Given the description of an element on the screen output the (x, y) to click on. 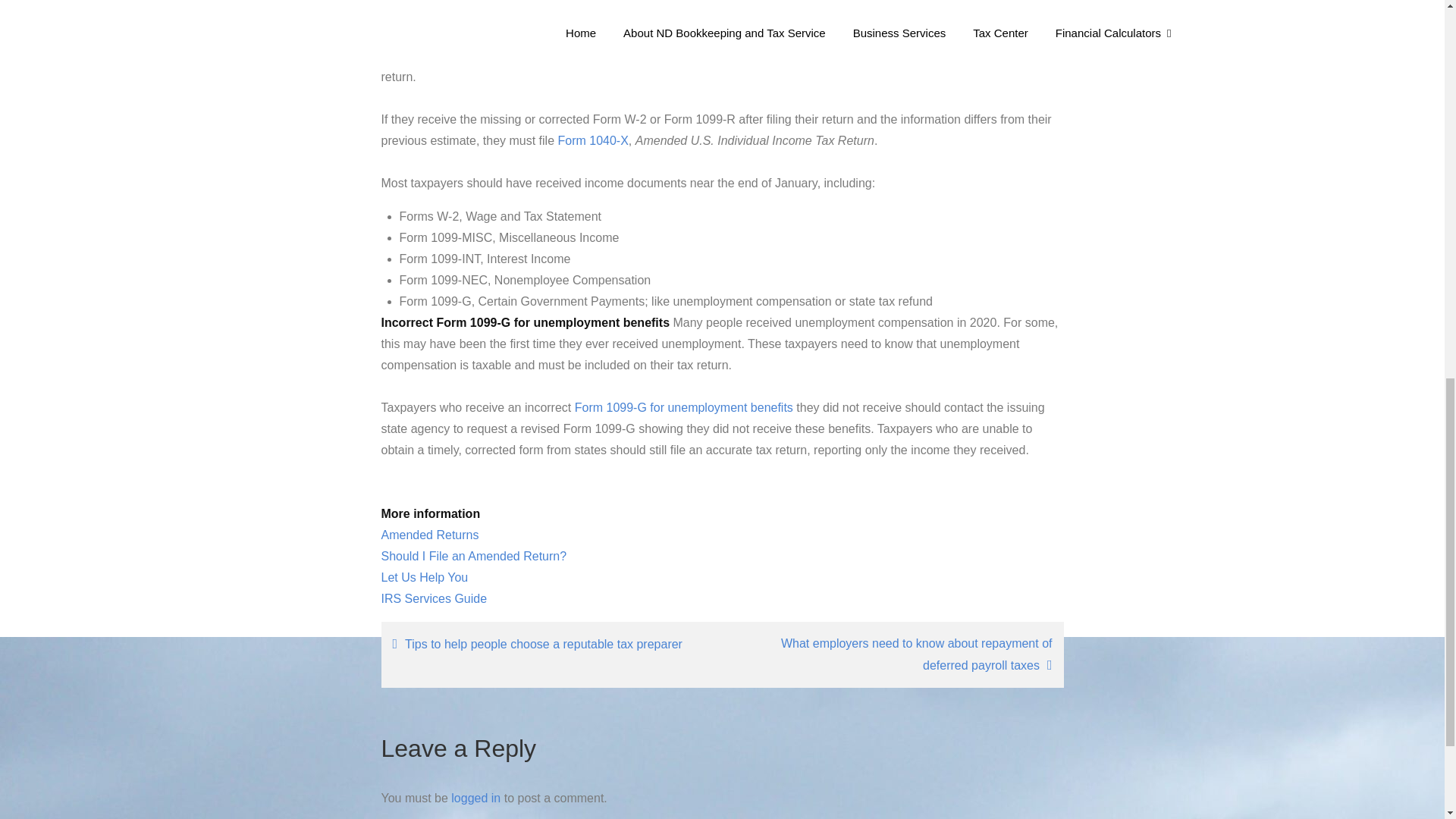
logged in (475, 797)
Amended Returns (429, 534)
Tips to help people choose a reputable tax preparer (548, 644)
Form 1099-G for unemployment benefits (684, 407)
Let Us Help You (423, 576)
Form 1040-X (592, 140)
IRS Services Guide (433, 598)
Should I File an Amended Return? (473, 555)
